Given the description of an element on the screen output the (x, y) to click on. 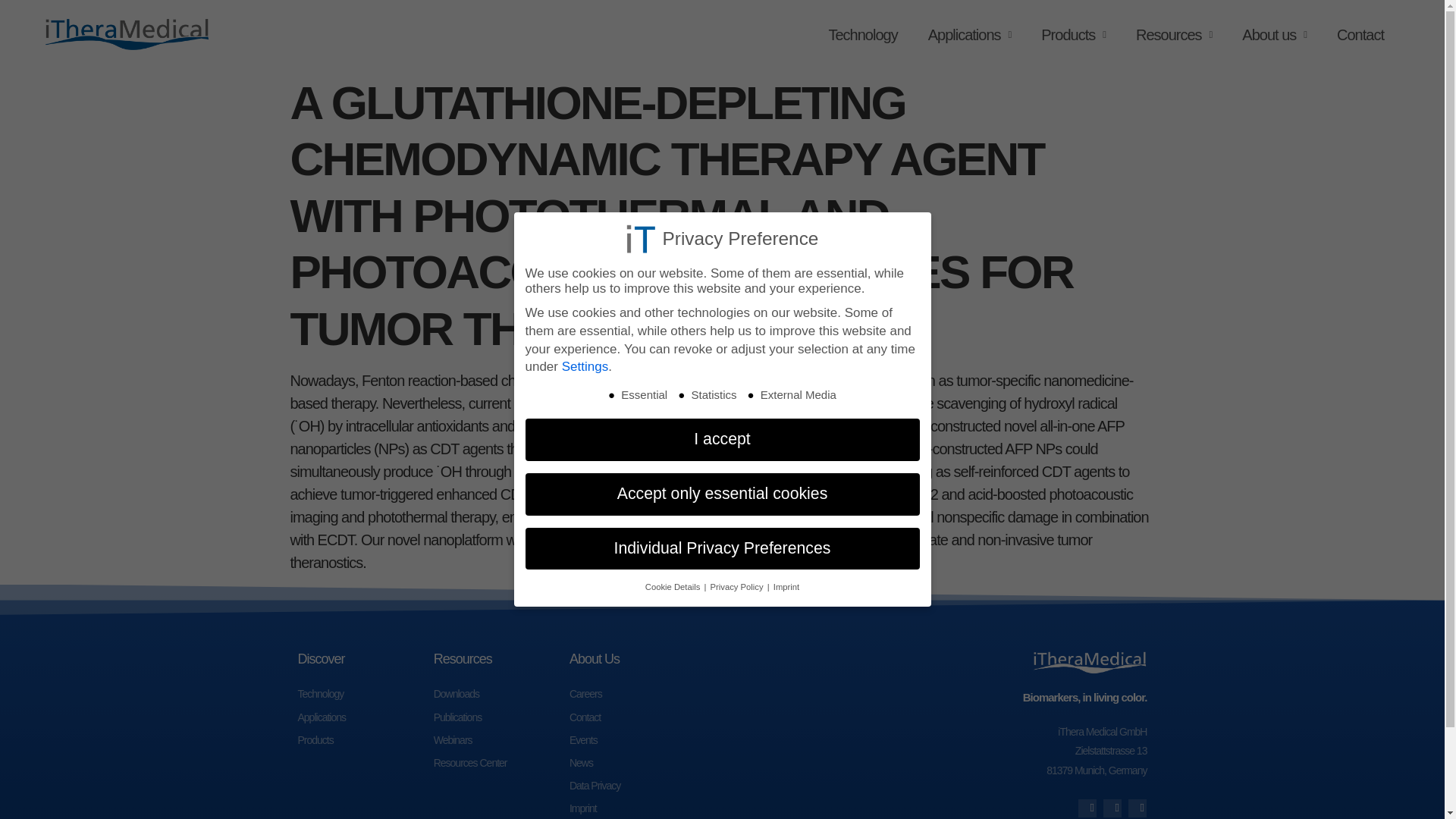
Publications (501, 717)
Technology (364, 693)
Webinars (501, 740)
Technology (862, 34)
Products (1073, 34)
About us (1274, 34)
Applications (364, 717)
Resources (1174, 34)
Downloads (501, 693)
Careers (636, 693)
Resources Center (501, 763)
Products (364, 740)
Applications (969, 34)
Contact (1360, 34)
